Given the description of an element on the screen output the (x, y) to click on. 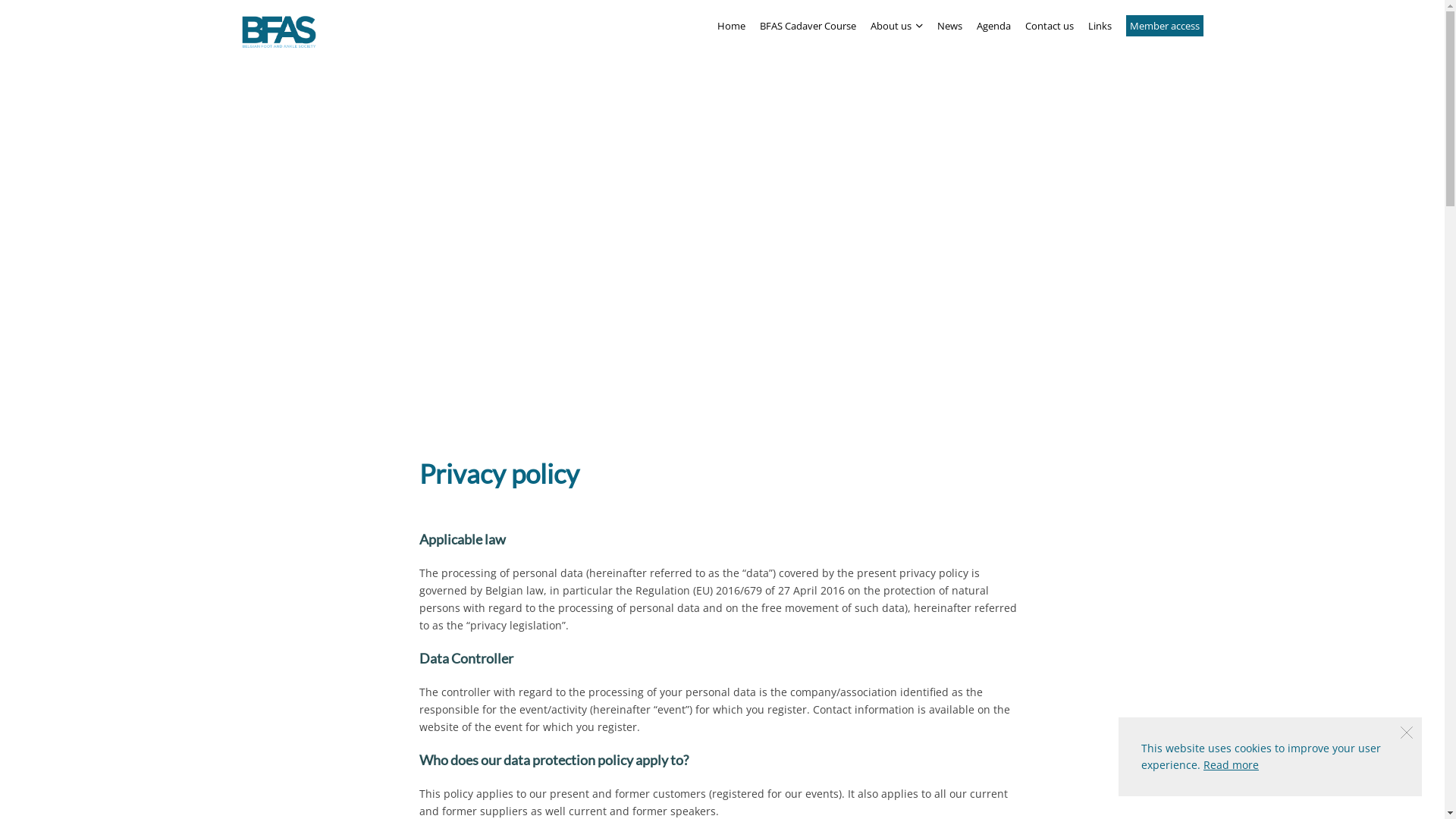
Contact us Element type: text (1049, 25)
Read more Element type: text (1230, 764)
Home Element type: text (731, 25)
About us   Element type: text (896, 25)
News Element type: text (949, 25)
Links Element type: text (1099, 25)
BFAS Cadaver Course Element type: text (807, 25)
Member access Element type: text (1164, 25)
Agenda Element type: text (993, 25)
